Given the description of an element on the screen output the (x, y) to click on. 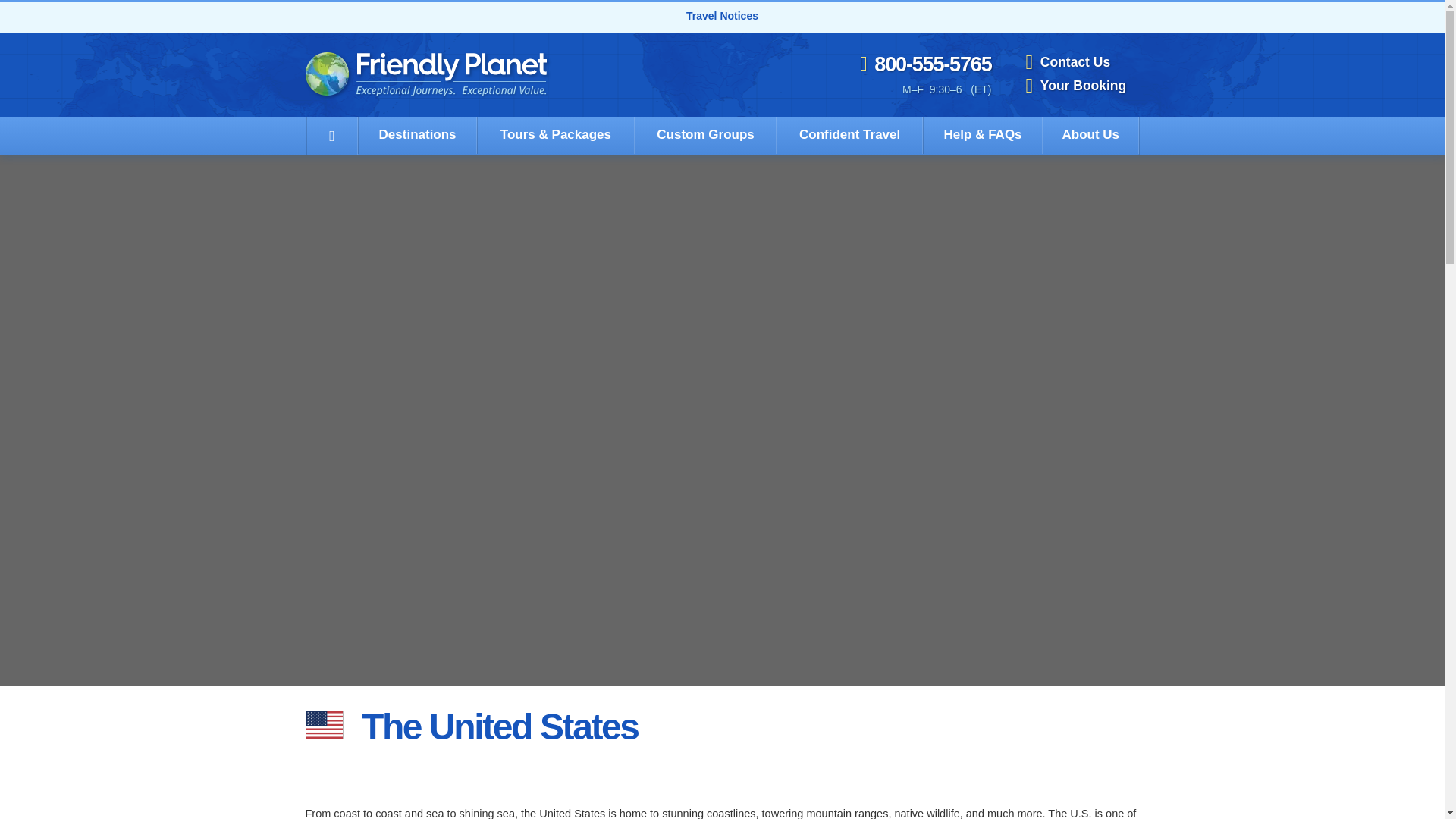
Your Booking (1081, 86)
Contact Us (1081, 61)
Destinations (417, 135)
Travel Notices (721, 15)
800-555-5765 (925, 65)
Your Booking (1081, 86)
Contact us (1081, 61)
Call us (925, 65)
